Given the description of an element on the screen output the (x, y) to click on. 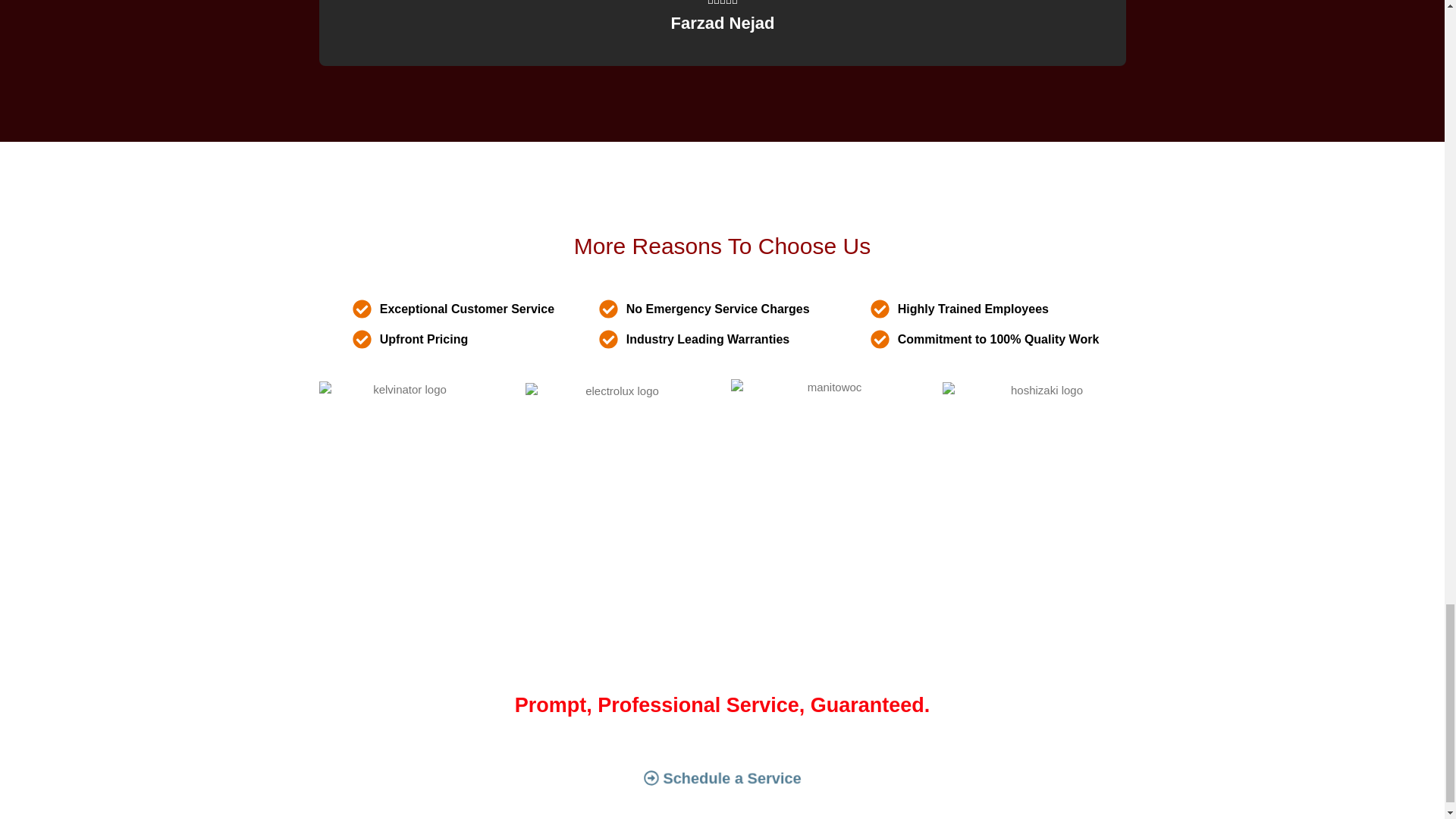
215-515-7616 (803, 666)
Schedule a Service (703, 777)
